Given the description of an element on the screen output the (x, y) to click on. 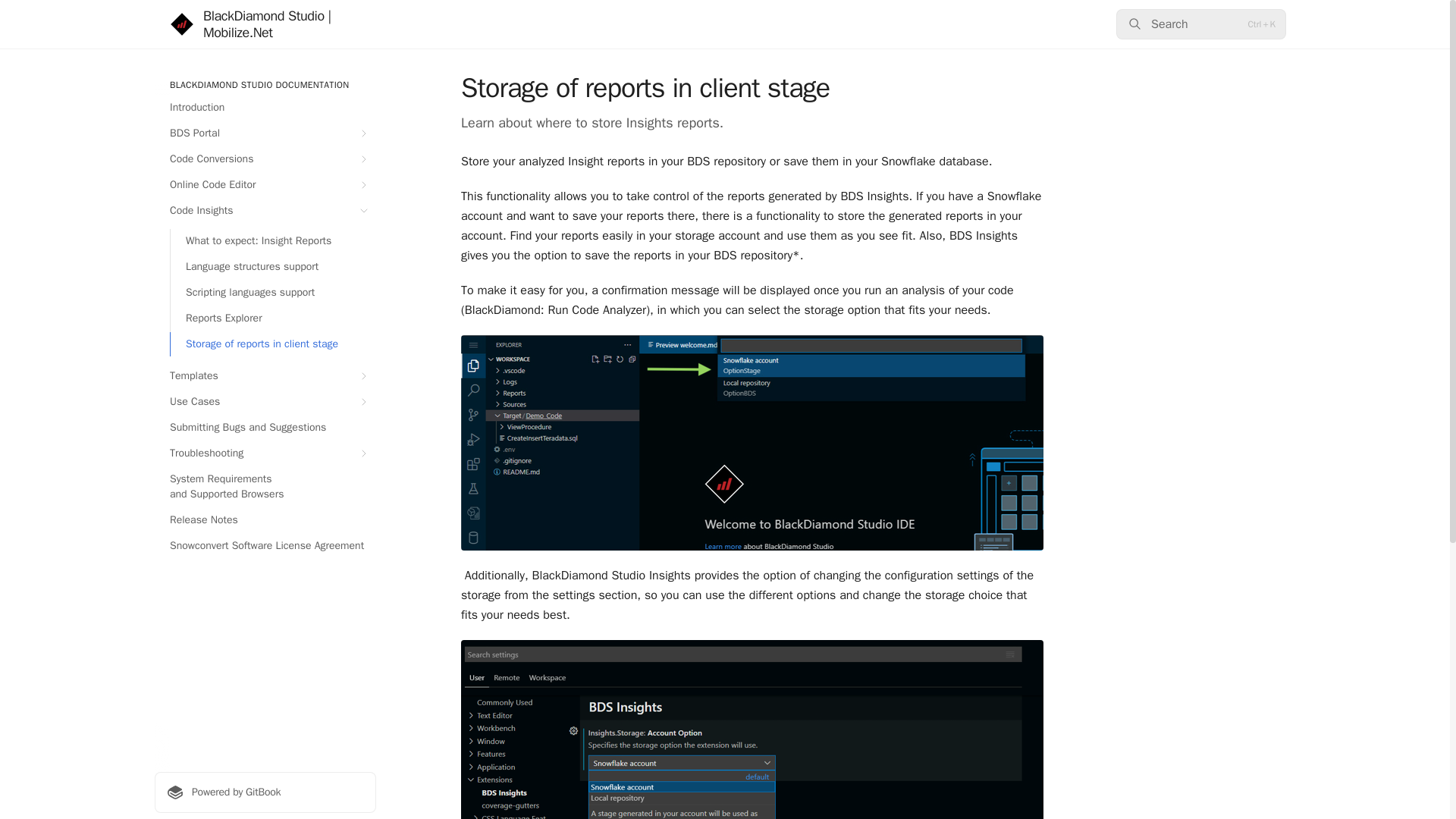
Online Code Editor (264, 184)
BDS Portal (264, 133)
Code Conversions (264, 159)
Introduction (264, 107)
